Given the description of an element on the screen output the (x, y) to click on. 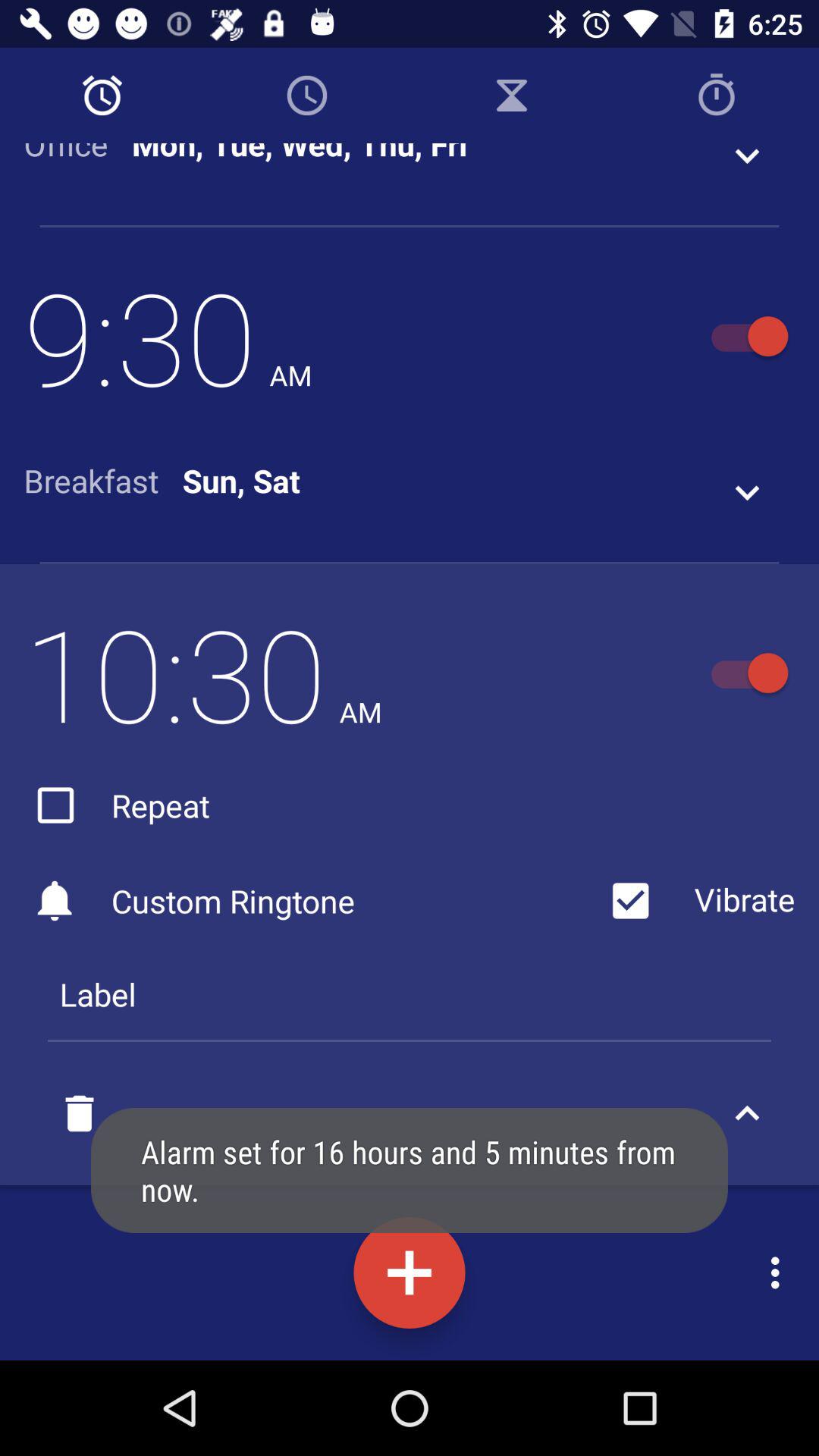
launch item below custom ringtone icon (409, 993)
